Given the description of an element on the screen output the (x, y) to click on. 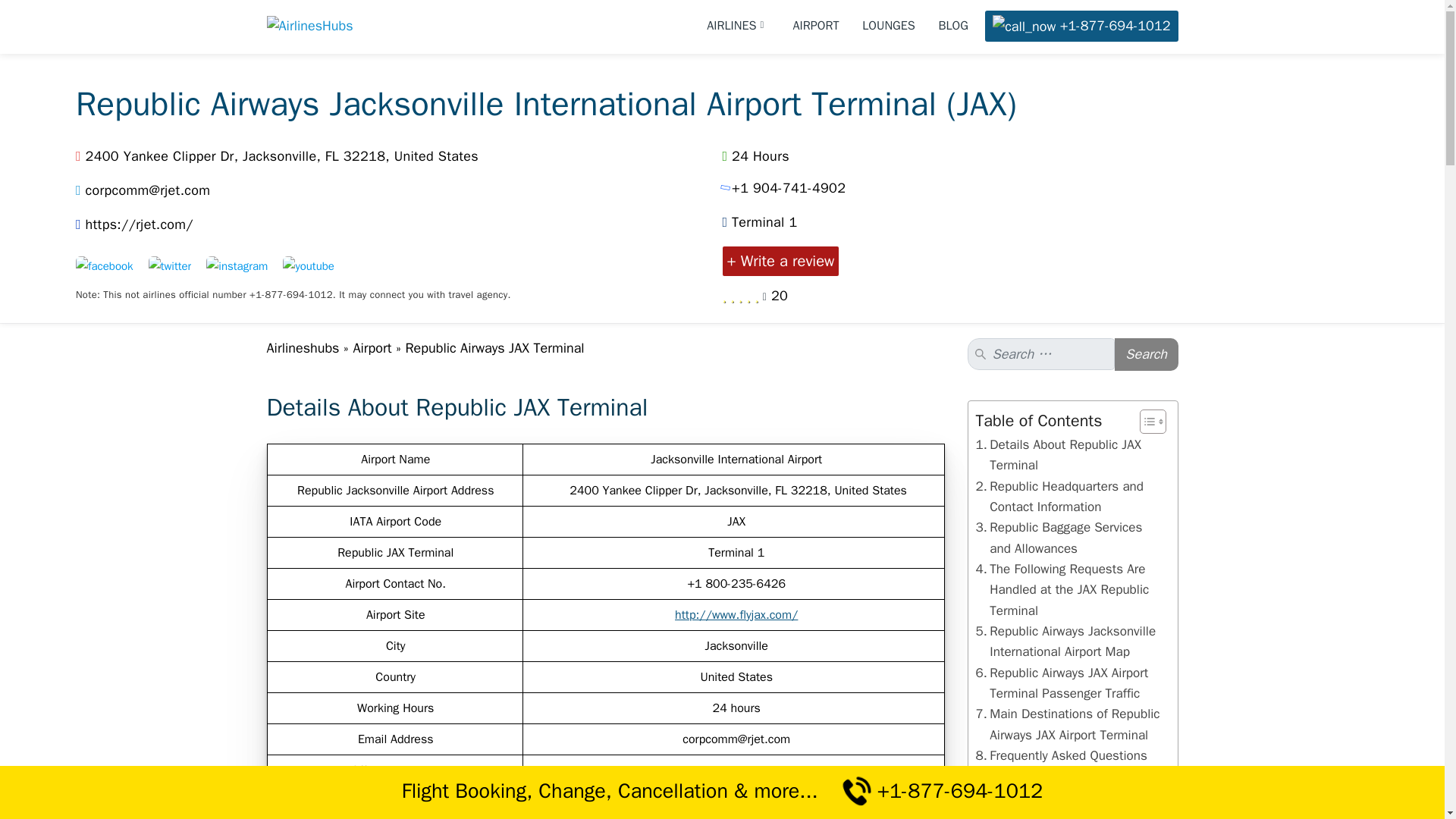
Search (1146, 354)
Search (1146, 354)
AIRPORT (816, 25)
AIRLINES (738, 25)
